Given the description of an element on the screen output the (x, y) to click on. 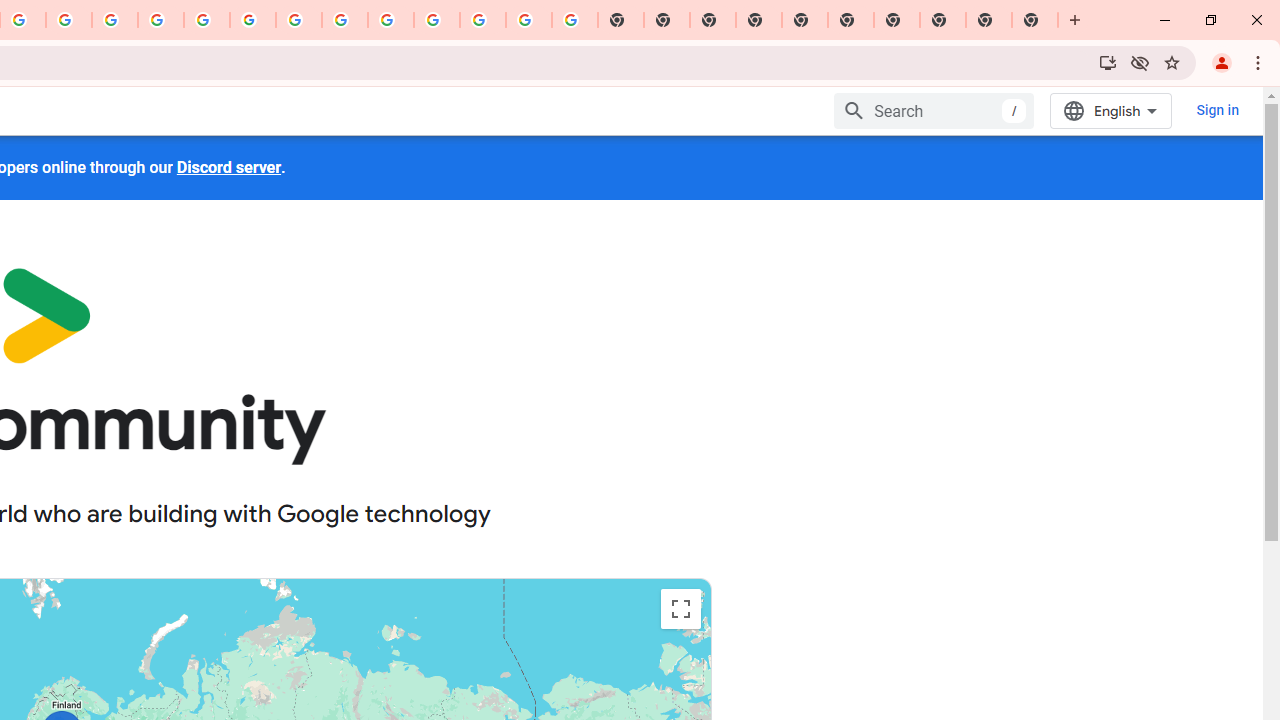
Google Images (574, 20)
YouTube (299, 20)
English (1110, 110)
Browse Chrome as a guest - Computer - Google Chrome Help (345, 20)
Privacy Help Center - Policies Help (161, 20)
New Tab (759, 20)
